Given the description of an element on the screen output the (x, y) to click on. 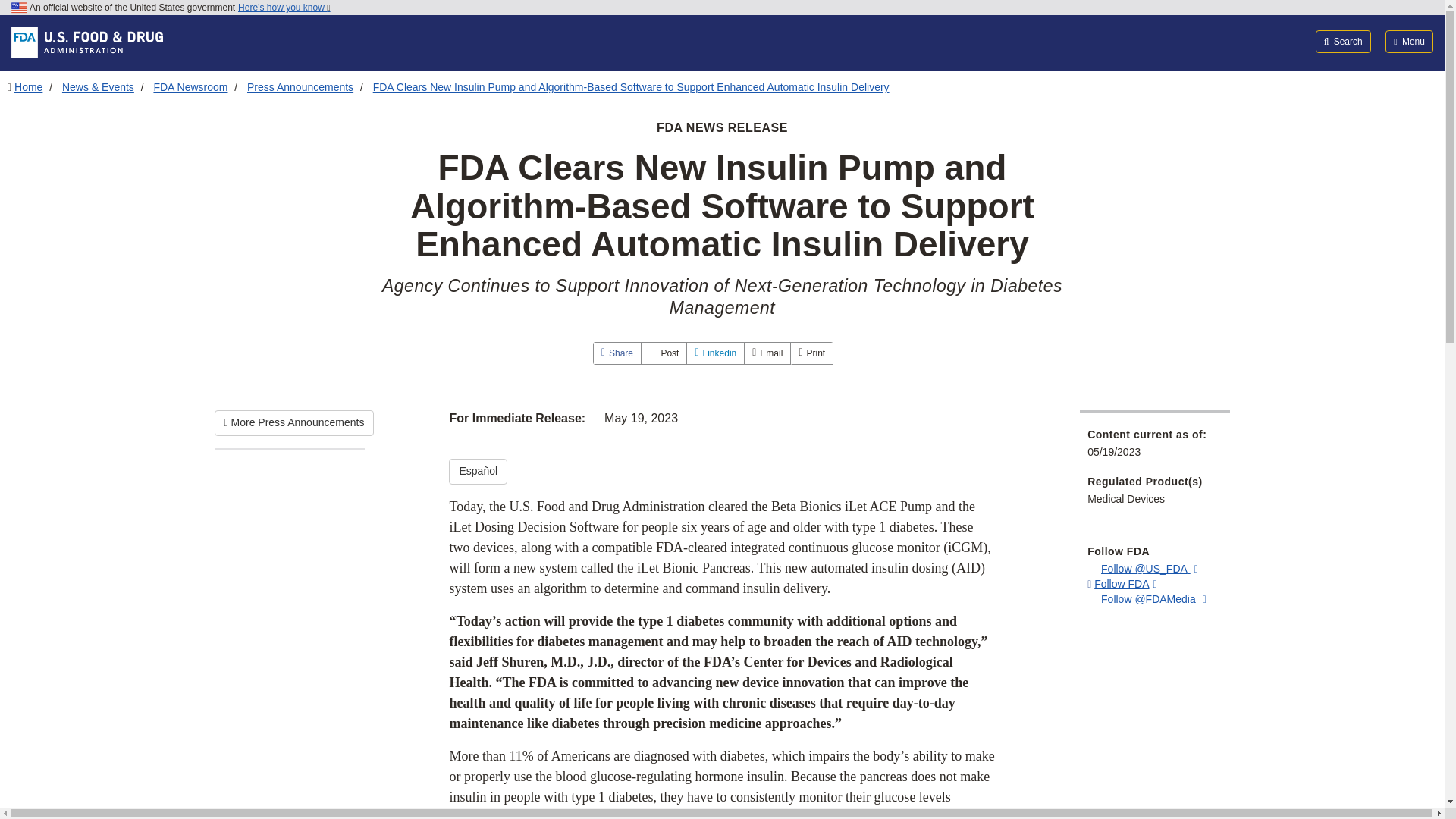
Print this page (811, 353)
  Search (1343, 41)
  Menu (1409, 41)
